Given the description of an element on the screen output the (x, y) to click on. 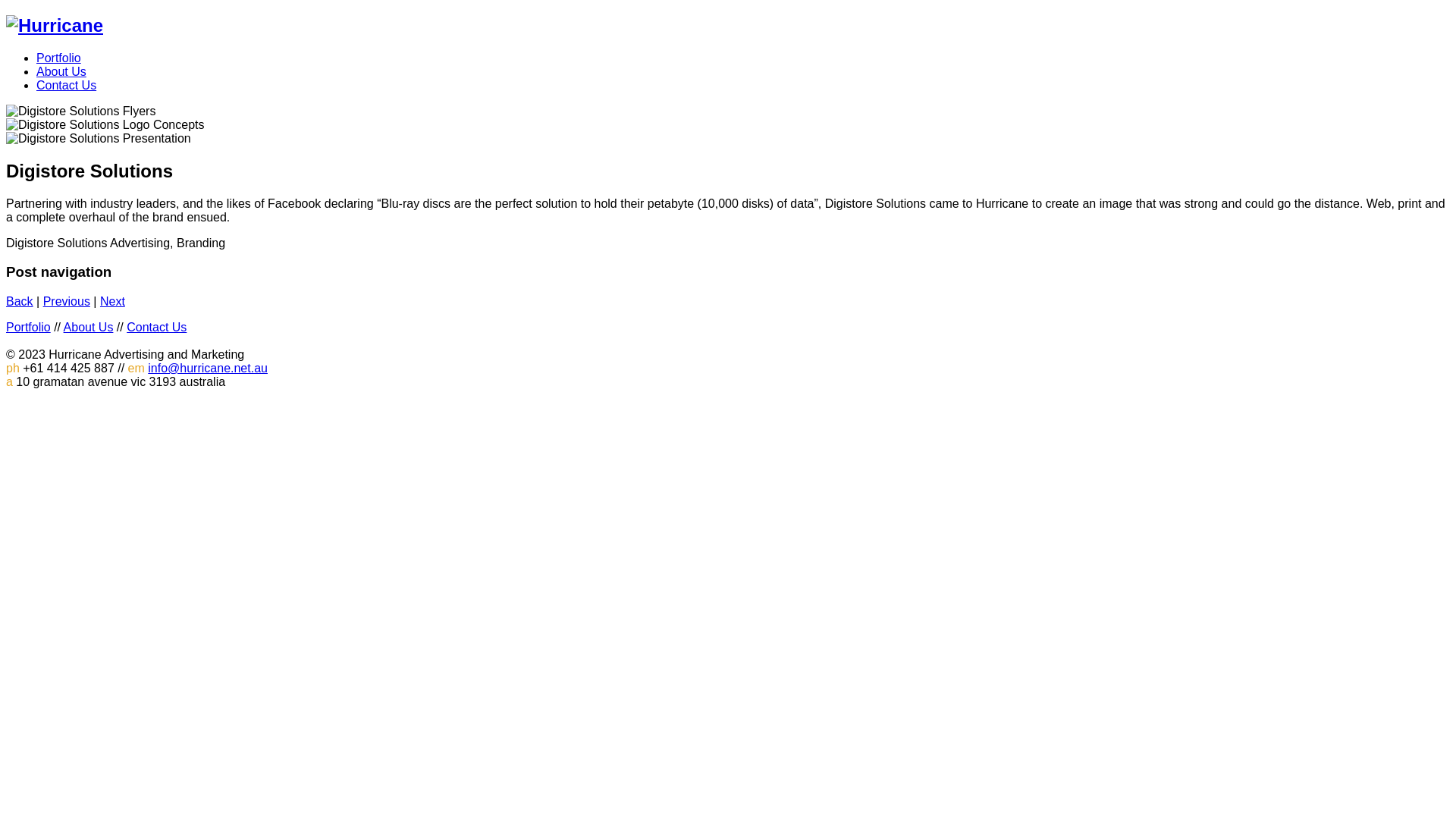
Previous Element type: text (66, 300)
Contact Us Element type: text (66, 84)
Contact Us Element type: text (156, 326)
Back Element type: text (19, 300)
About Us Element type: text (88, 326)
Portfolio Element type: text (58, 57)
Portfolio Element type: text (28, 326)
info@hurricane.net.au Element type: text (207, 367)
Next Element type: text (112, 300)
About Us Element type: text (61, 71)
